Given the description of an element on the screen output the (x, y) to click on. 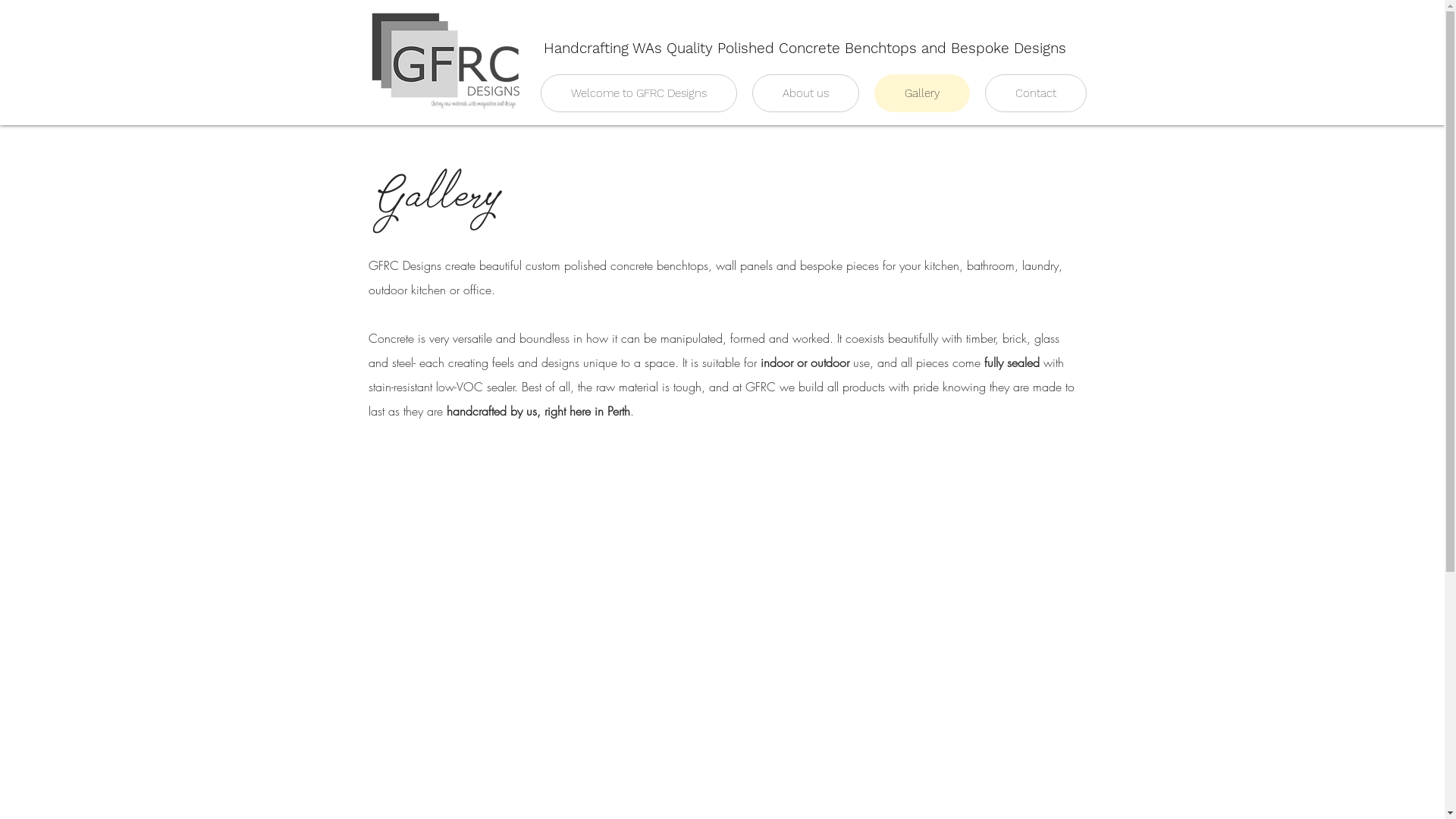
About us Element type: text (805, 93)
Welcome to GFRC Designs Element type: text (637, 93)
Contact Element type: text (1034, 93)
Gallery Element type: text (921, 93)
